Given the description of an element on the screen output the (x, y) to click on. 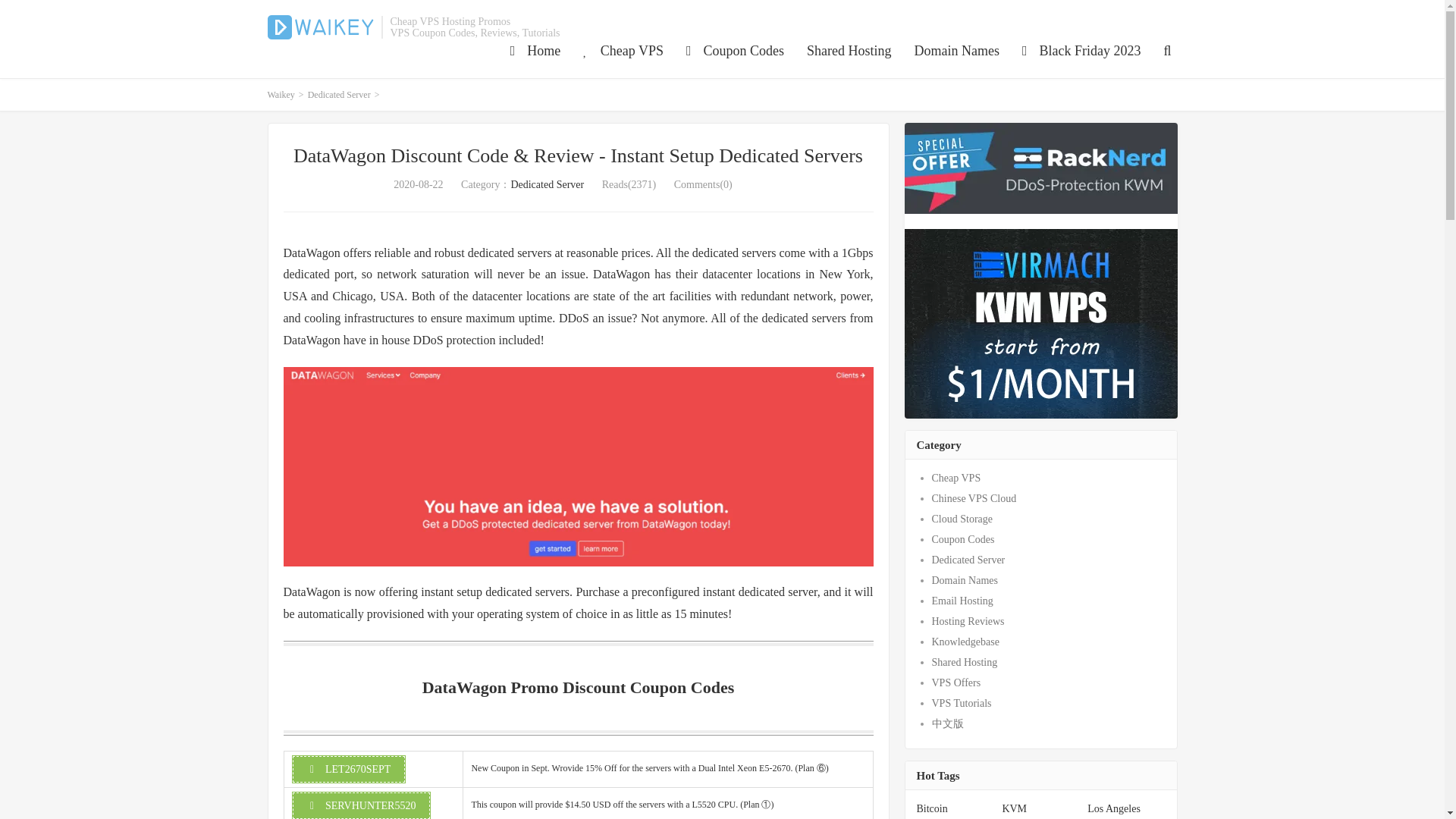
LET2670SEPT (348, 768)
Domain Names (956, 51)
Dedicated Server (547, 184)
Waikey (319, 27)
Dedicated Server (339, 94)
Shared Hosting (848, 51)
SERVHUNTER5520 (360, 805)
Cheap VPS (623, 51)
Waikey (280, 94)
Coupon Codes (734, 51)
Home (535, 51)
Black Friday 2023 (1081, 51)
